Given the description of an element on the screen output the (x, y) to click on. 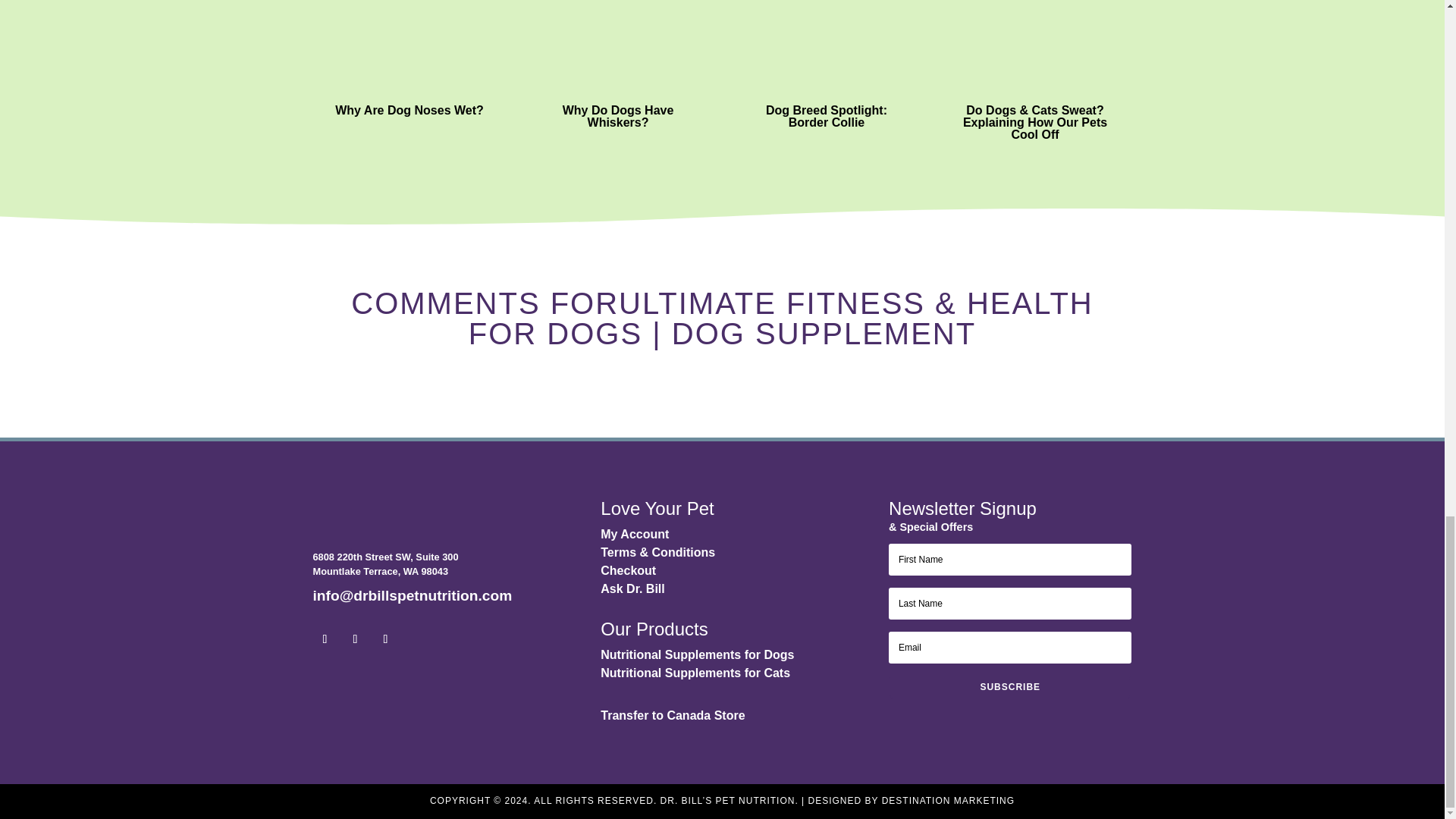
Follow on Youtube (384, 639)
Follow on Instagram (354, 639)
Follow on Facebook (324, 639)
